Given the description of an element on the screen output the (x, y) to click on. 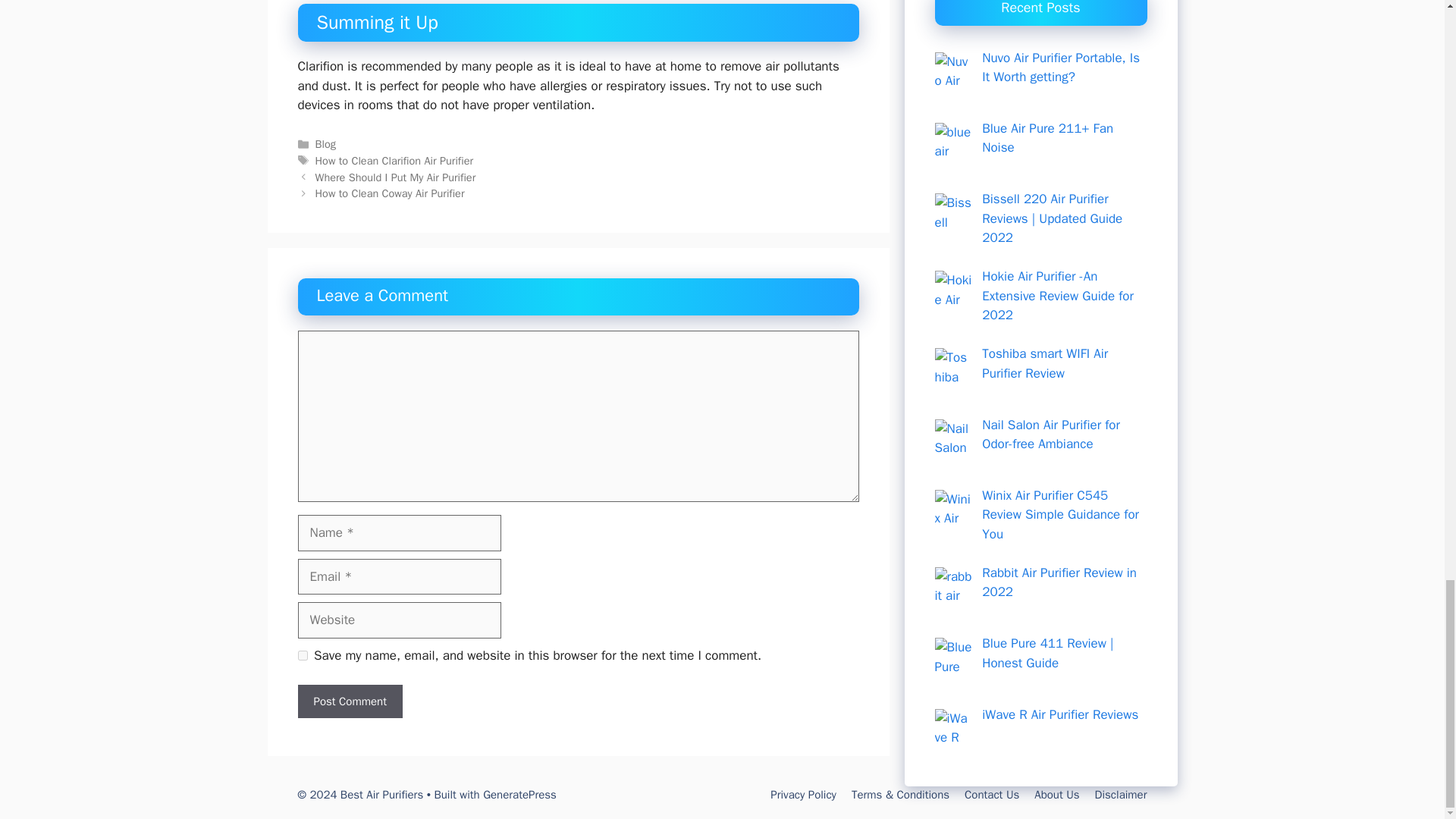
Where Should I Put My Air Purifier (395, 177)
Post Comment (349, 701)
How to Clean Coway Air Purifier (389, 192)
How to Clean Clarifion Air Purifier (394, 160)
yes (302, 655)
Blog (325, 143)
Post Comment (349, 701)
